Given the description of an element on the screen output the (x, y) to click on. 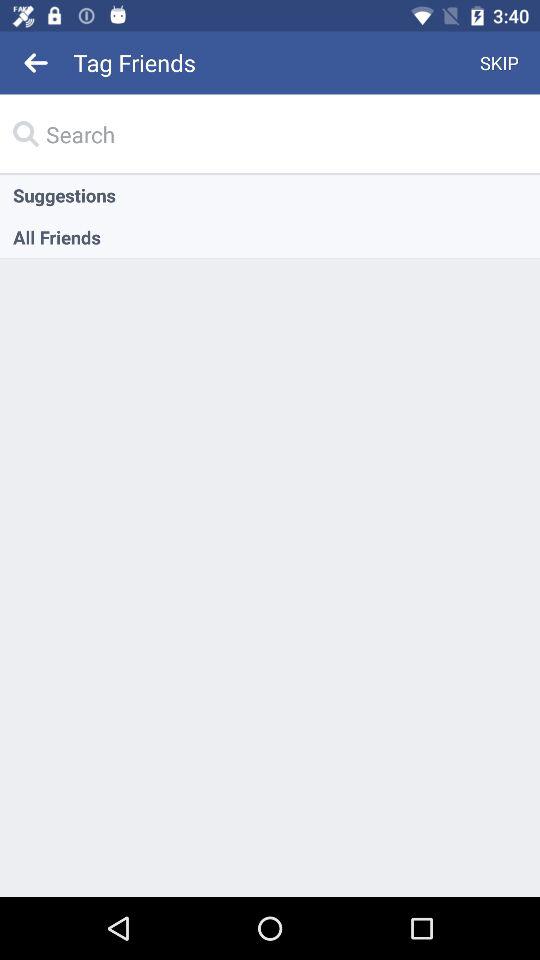
press the icon to the left of the tag friends item (36, 62)
